Given the description of an element on the screen output the (x, y) to click on. 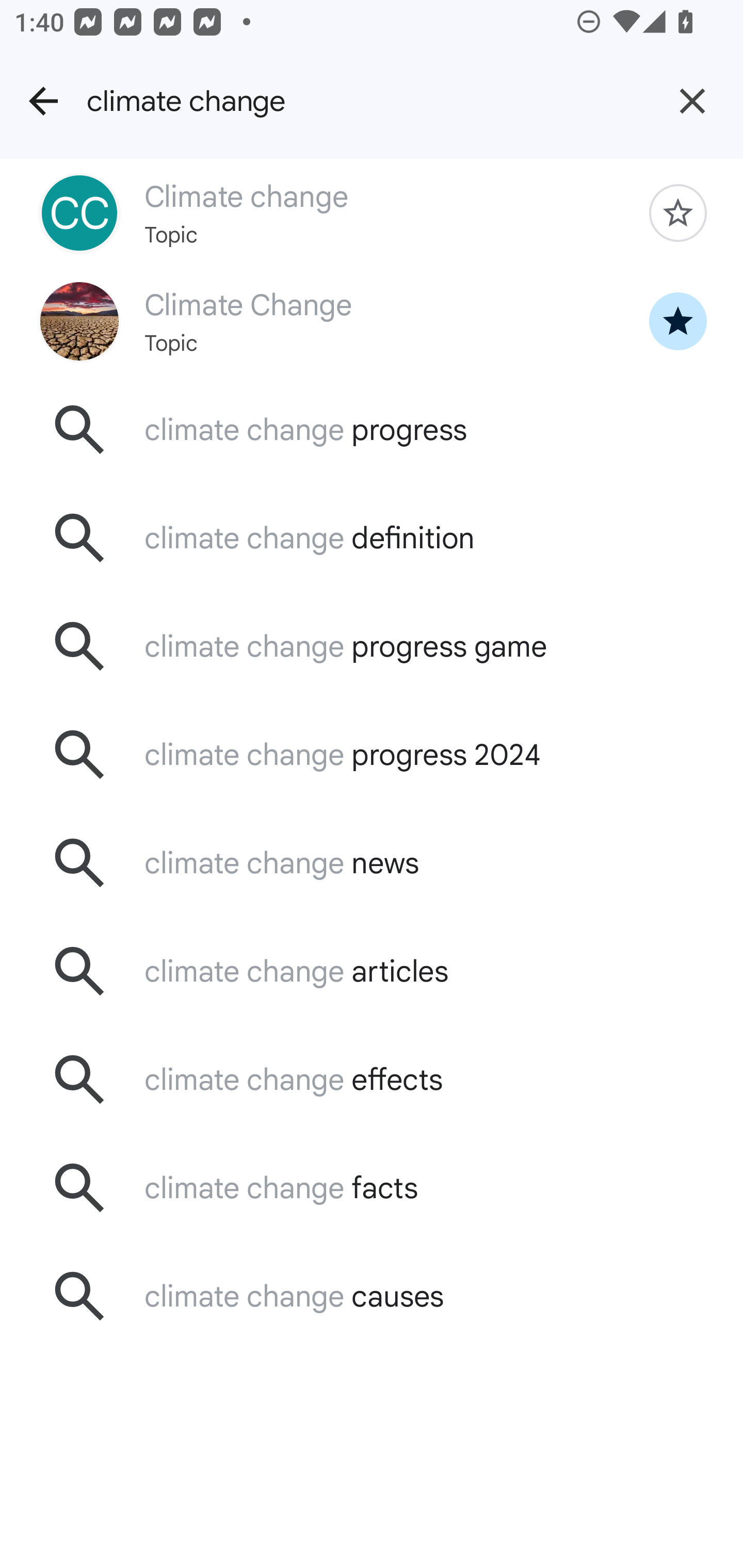
Back (43, 101)
climate change (363, 101)
Clear text (692, 101)
C‌C Climate change Topic Follow (371, 212)
Follow (677, 212)
Climate Change Topic Unfollow (371, 320)
Unfollow (677, 321)
climate change progress (371, 429)
climate change definition (371, 538)
climate change progress game (371, 646)
climate change progress 2024 (371, 754)
climate change news (371, 863)
climate change articles (371, 971)
climate change effects (371, 1079)
climate change facts (371, 1187)
climate change causes (371, 1295)
